Given the description of an element on the screen output the (x, y) to click on. 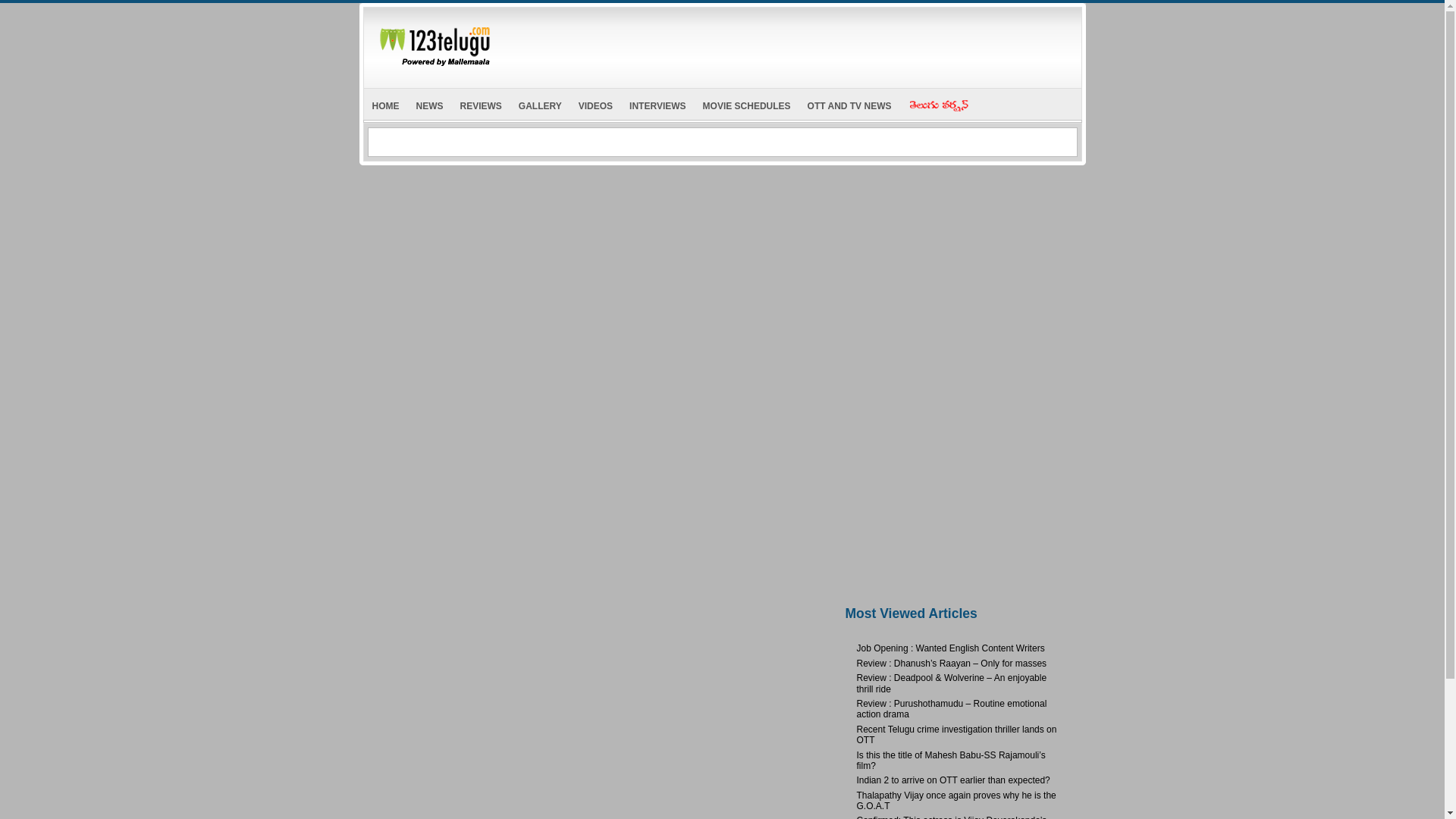
Job Opening : Wanted English Content Writers (951, 647)
VIDEOS (595, 103)
REVIEWS (481, 103)
MOVIE SCHEDULES (746, 103)
GALLERY (540, 103)
HOME (385, 103)
NEWS (429, 103)
INTERVIEWS (657, 103)
Thalapathy Vijay once again proves why he is the G.O.A.T (957, 800)
Indian 2 to arrive on OTT earlier than expected? (953, 779)
OTT AND TV NEWS (849, 103)
Recent Telugu crime investigation thriller lands on OTT (957, 734)
